Given the description of an element on the screen output the (x, y) to click on. 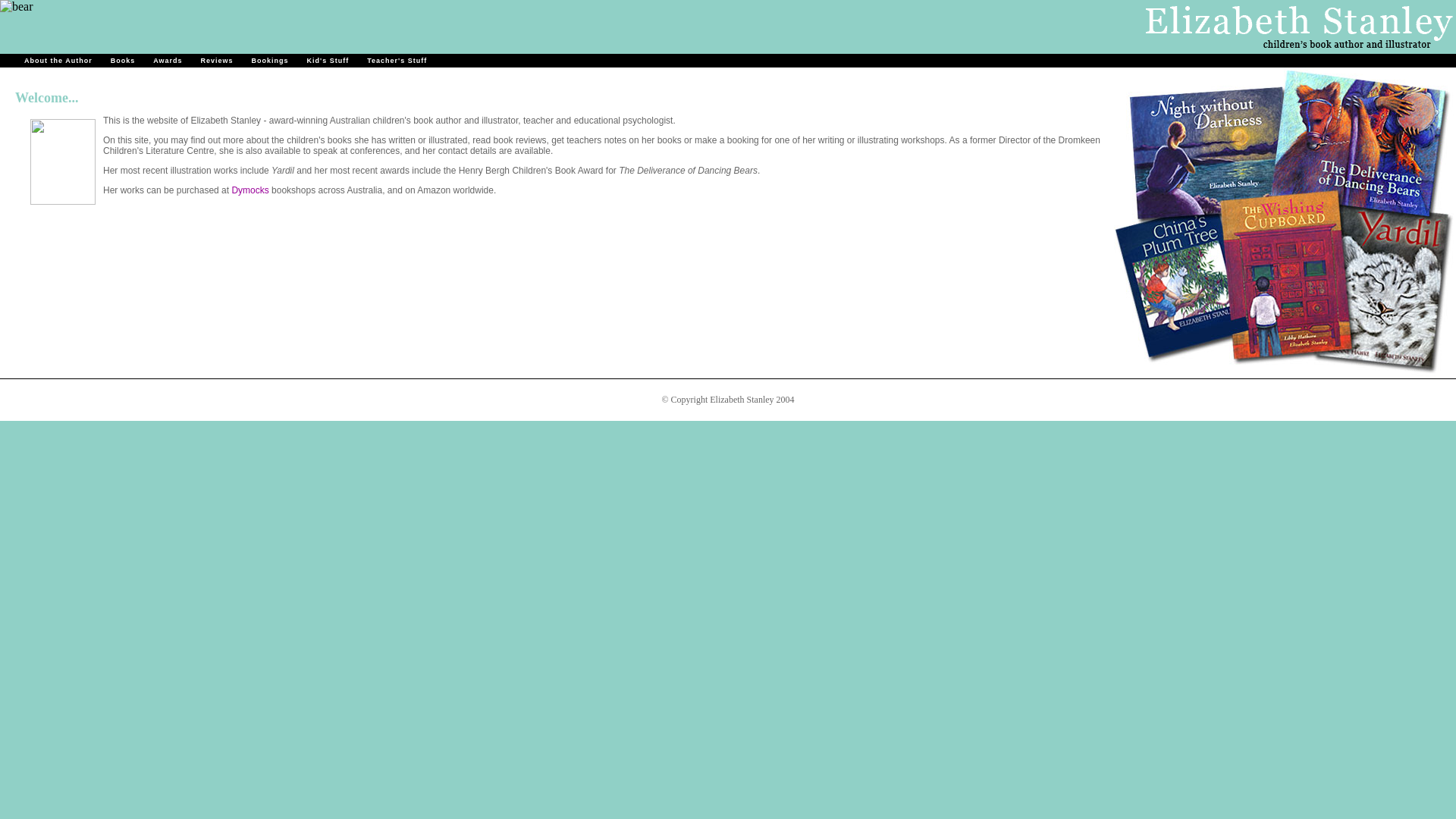
Reviews Element type: text (216, 60)
Teacher's Stuff Element type: text (396, 60)
Books Element type: text (122, 60)
Bookings Element type: text (270, 60)
About the Author Element type: text (58, 60)
Dymocks Element type: text (249, 190)
Awards Element type: text (167, 60)
Kid's Stuff Element type: text (328, 60)
